Given the description of an element on the screen output the (x, y) to click on. 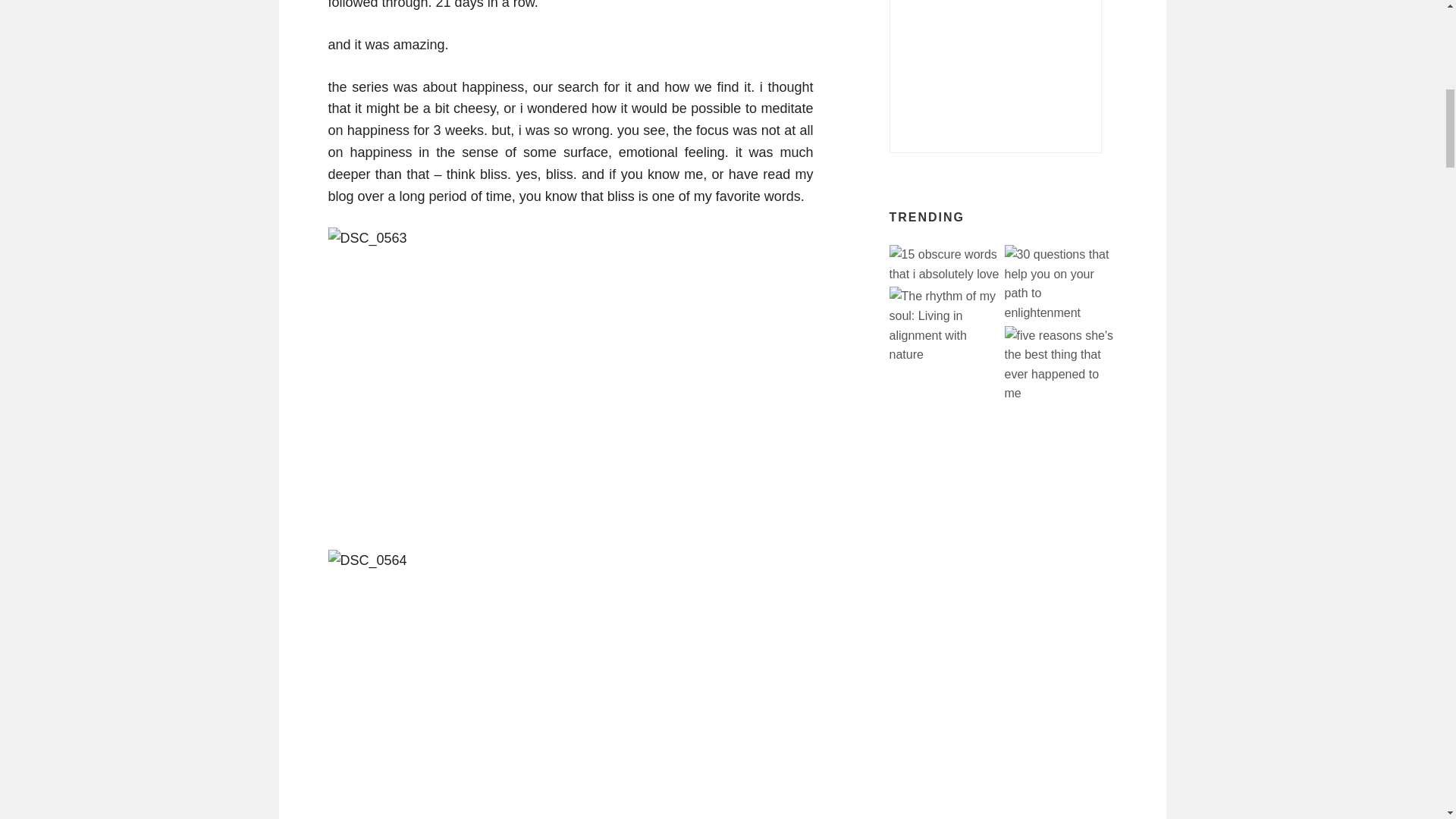
The rhythm of my soul: Living in alignment with nature (944, 324)
30 questions that help you on your path to enlightenment (1060, 283)
five reasons she's the best thing that ever happened to me (1060, 364)
15 obscure words that i absolutely love (944, 263)
